Given the description of an element on the screen output the (x, y) to click on. 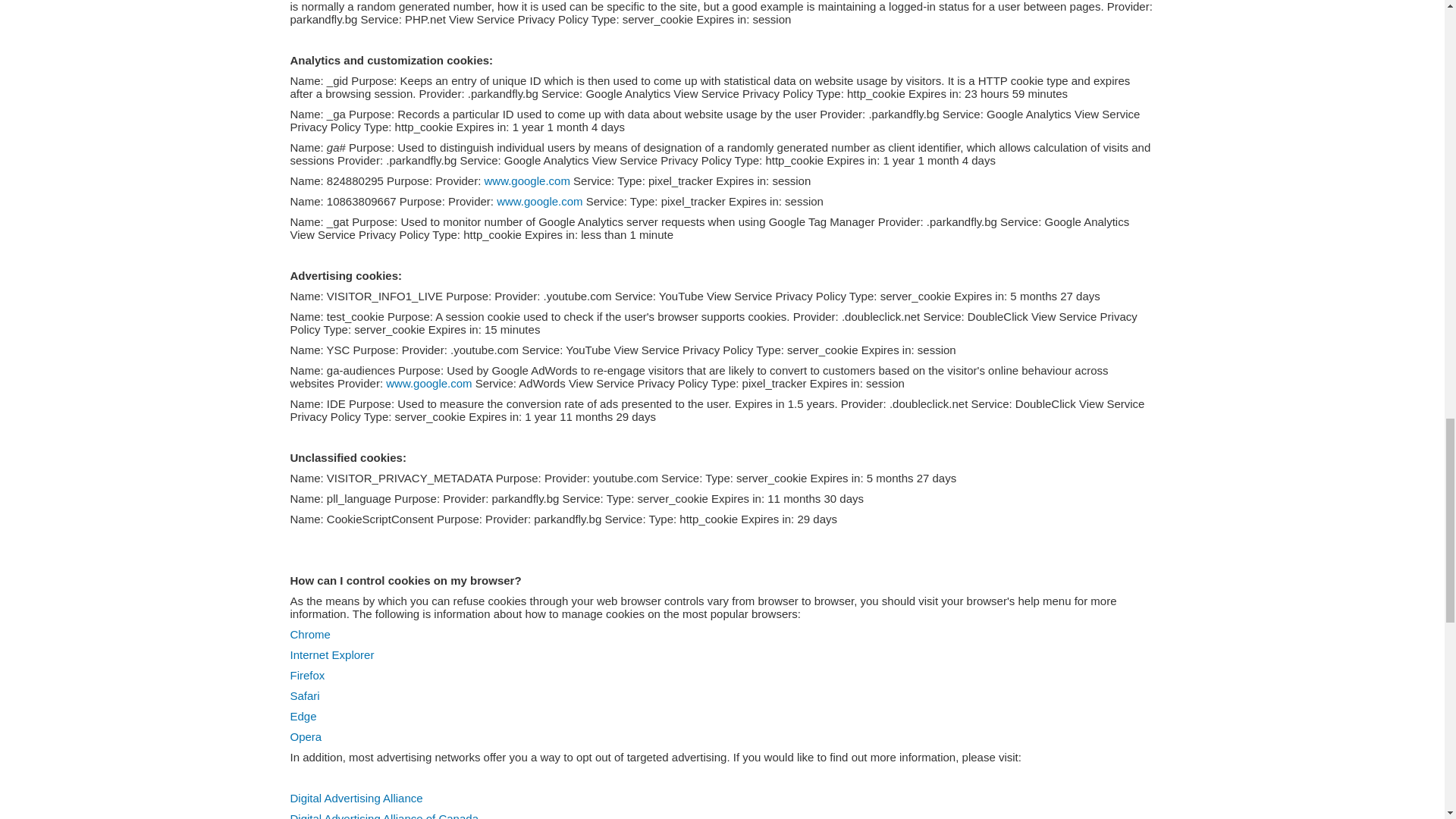
www.google.com (526, 180)
Opera (305, 736)
Digital Advertising Alliance (355, 797)
www.google.com (428, 382)
Firefox (306, 675)
Safari (303, 695)
Digital Advertising Alliance of Canada (383, 815)
Internet Explorer (331, 654)
www.google.com (539, 201)
Edge (302, 716)
Chrome (309, 634)
